Given the description of an element on the screen output the (x, y) to click on. 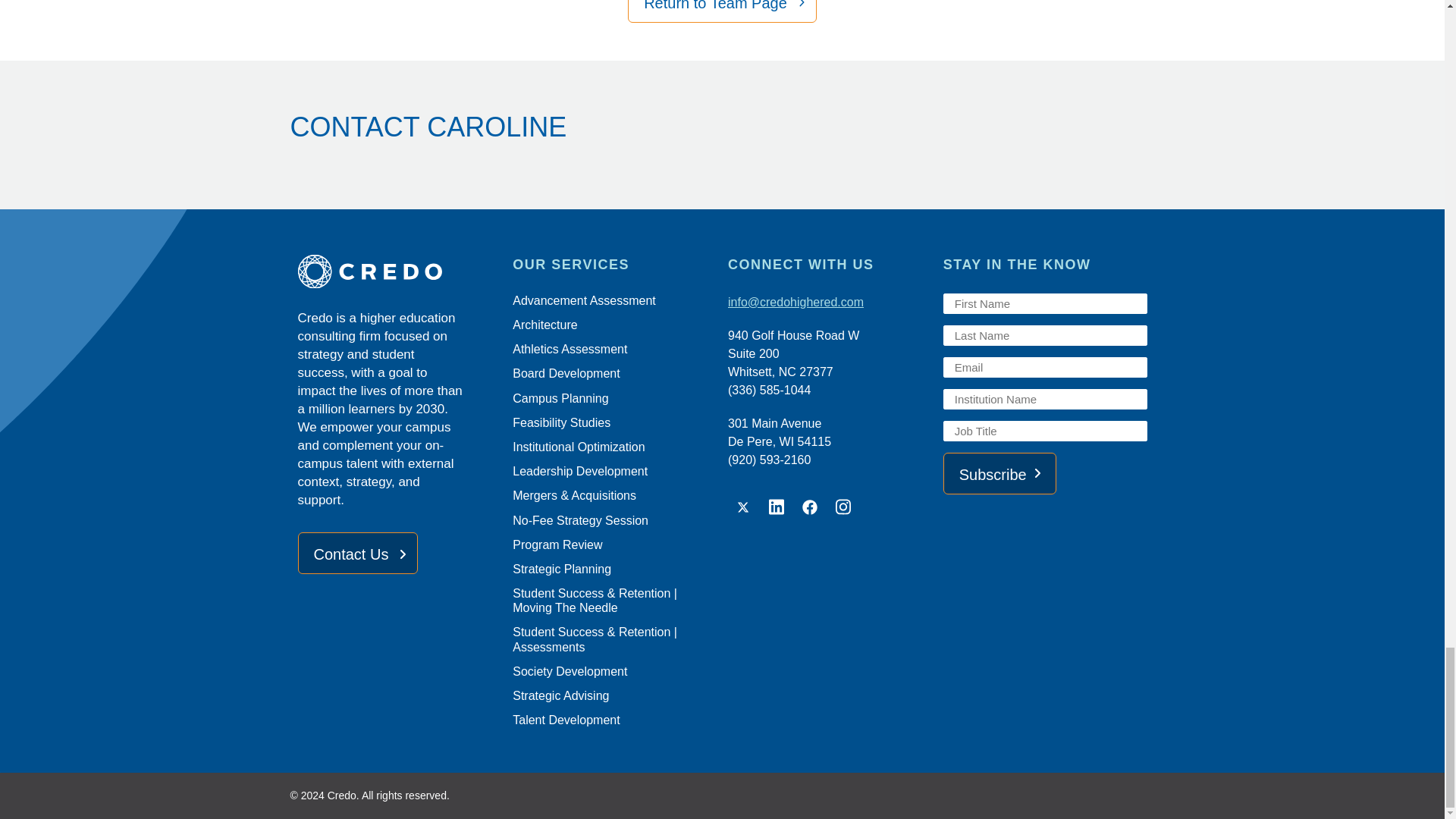
Connect With Us On Linkedin (776, 507)
Subscribe (999, 473)
Connect With Us On Instagram (843, 507)
Connect With Us On Twitter (743, 507)
Connect With Us On Facebook (809, 507)
Back to Credo's Home (398, 274)
